Given the description of an element on the screen output the (x, y) to click on. 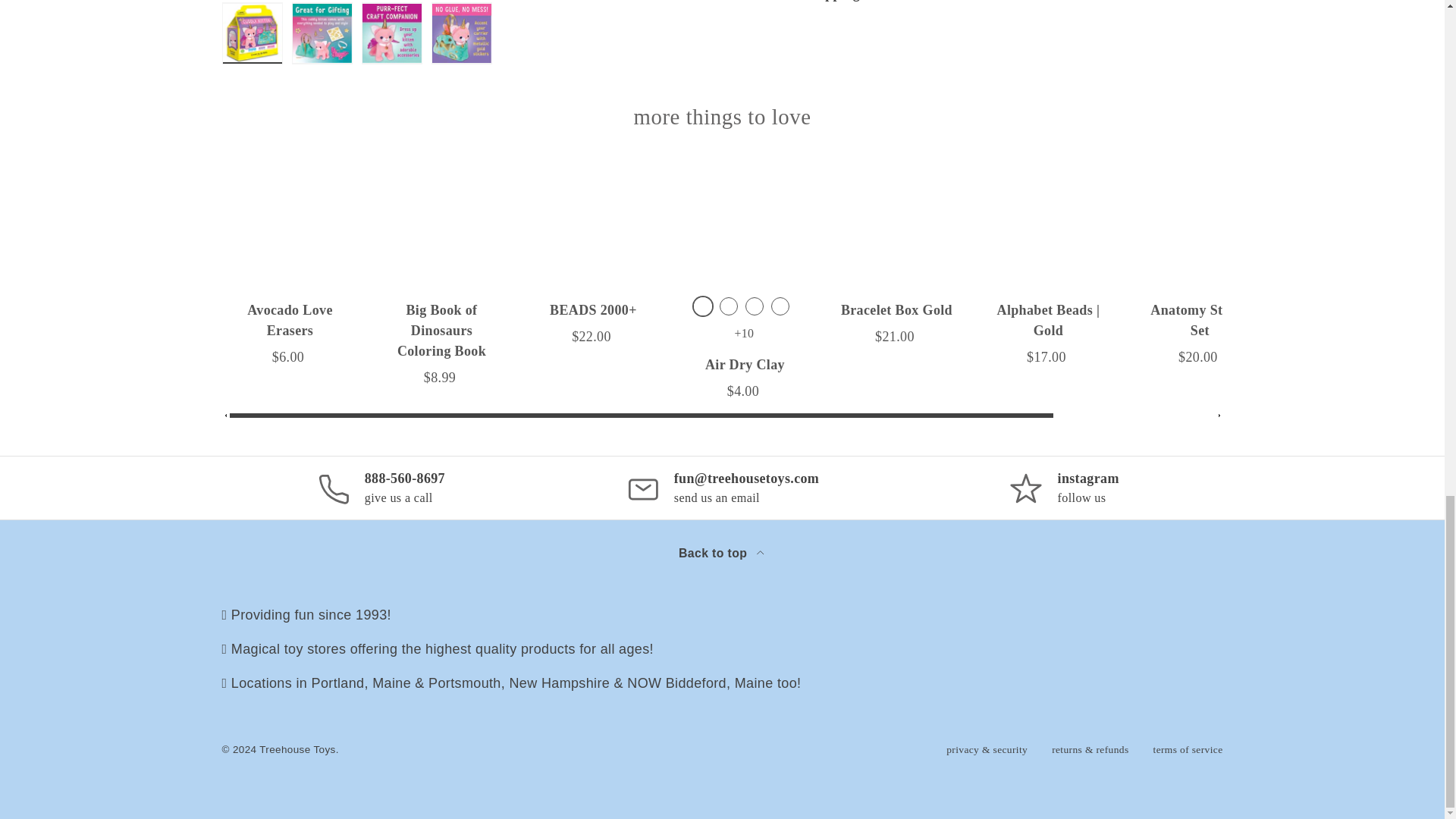
Orange (780, 306)
Green (728, 306)
Hot Pink (753, 306)
Dark Purple (702, 306)
